Given the description of an element on the screen output the (x, y) to click on. 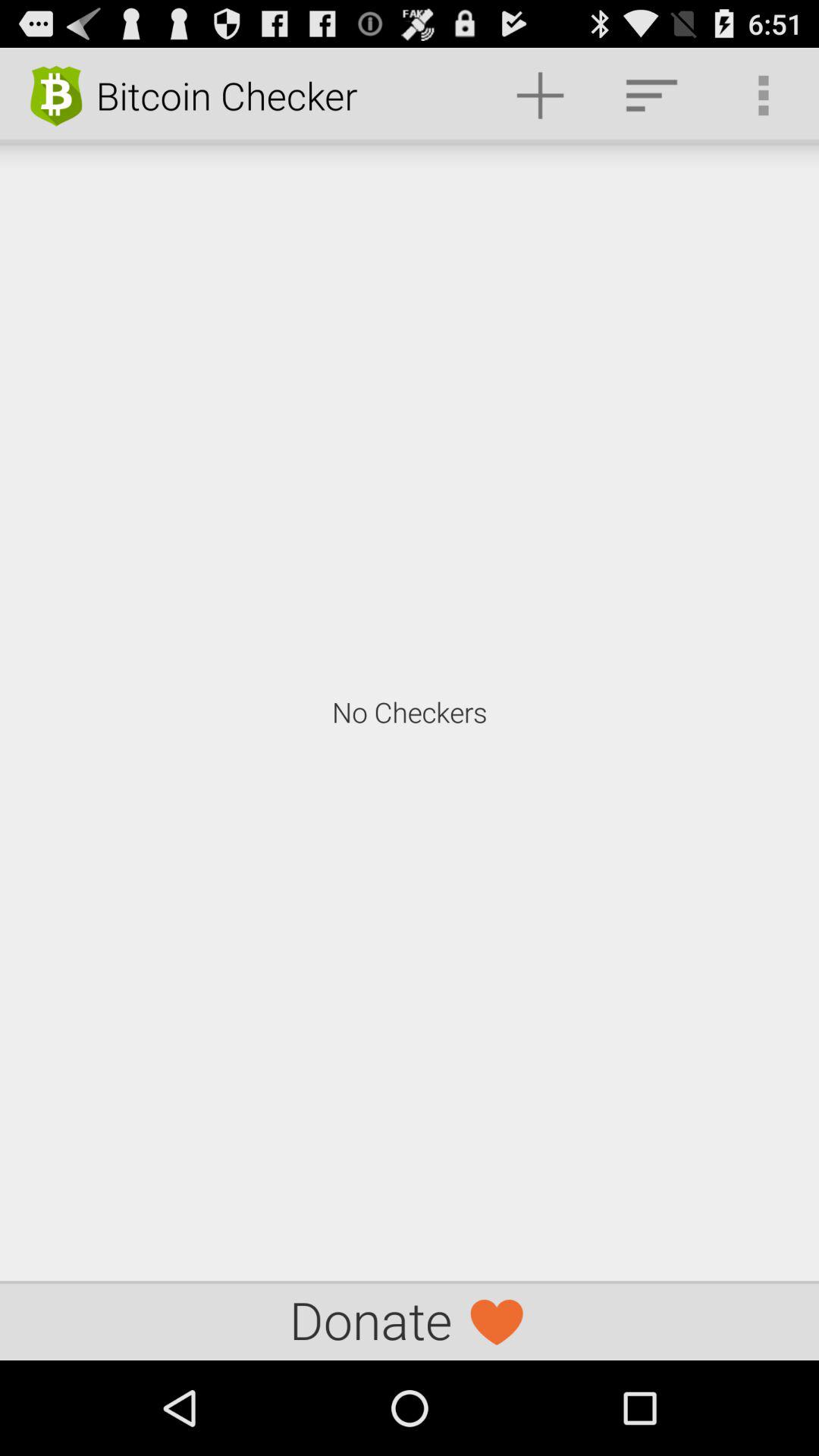
press the item above the no checkers item (540, 95)
